Given the description of an element on the screen output the (x, y) to click on. 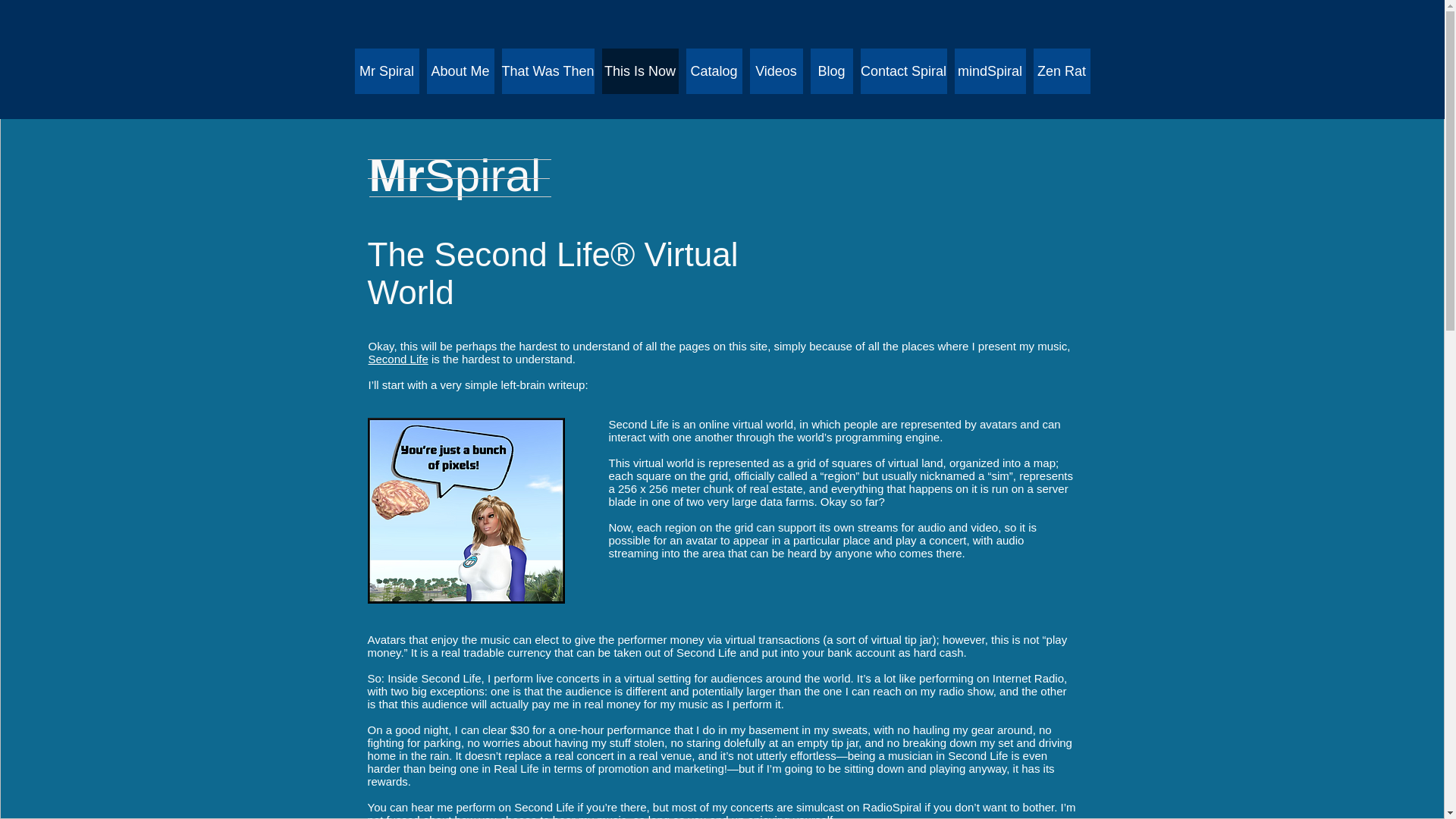
About Me (459, 71)
Contact Spiral (903, 71)
That Was Then (548, 71)
MrSpiral (454, 174)
Catalog (713, 71)
Videos (775, 71)
This Is Now (640, 71)
Second Life (398, 358)
Mr Spiral (387, 71)
mindSpiral (989, 71)
